Given the description of an element on the screen output the (x, y) to click on. 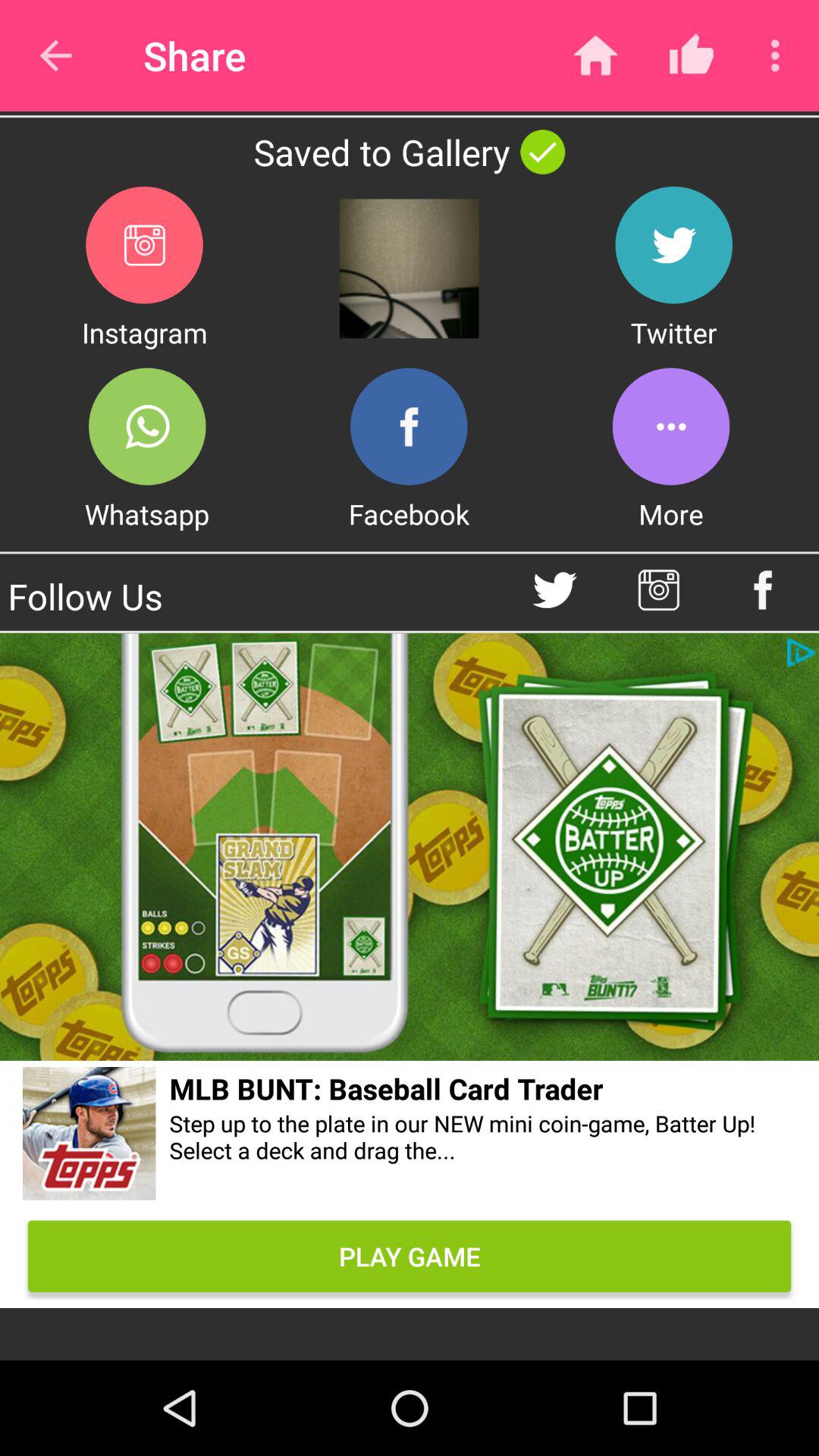
select topps (89, 1136)
